Given the description of an element on the screen output the (x, y) to click on. 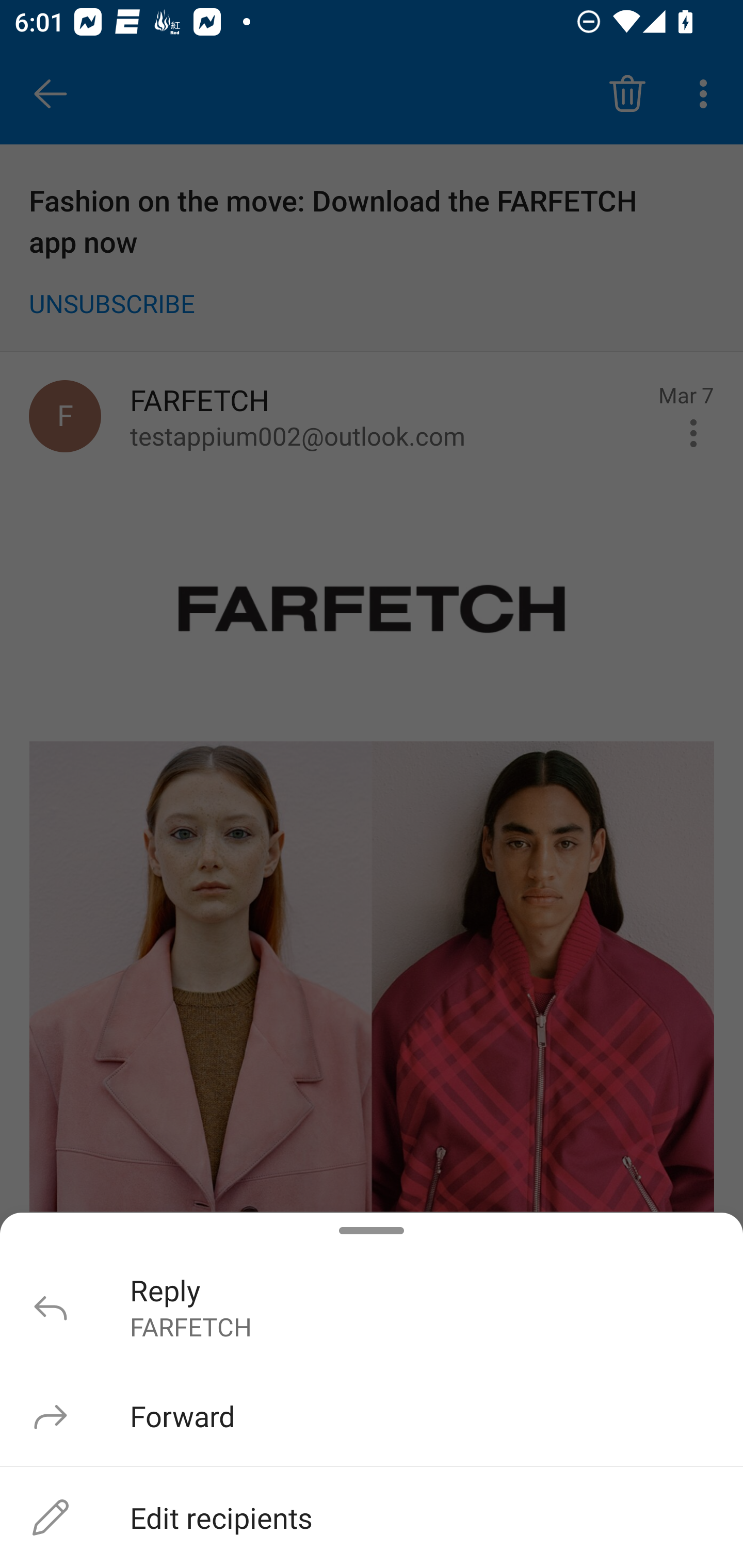
Reply Reply To FARFETCH FARFETCH   (371, 1306)
Forward (371, 1415)
Edit recipients (371, 1517)
